Given the description of an element on the screen output the (x, y) to click on. 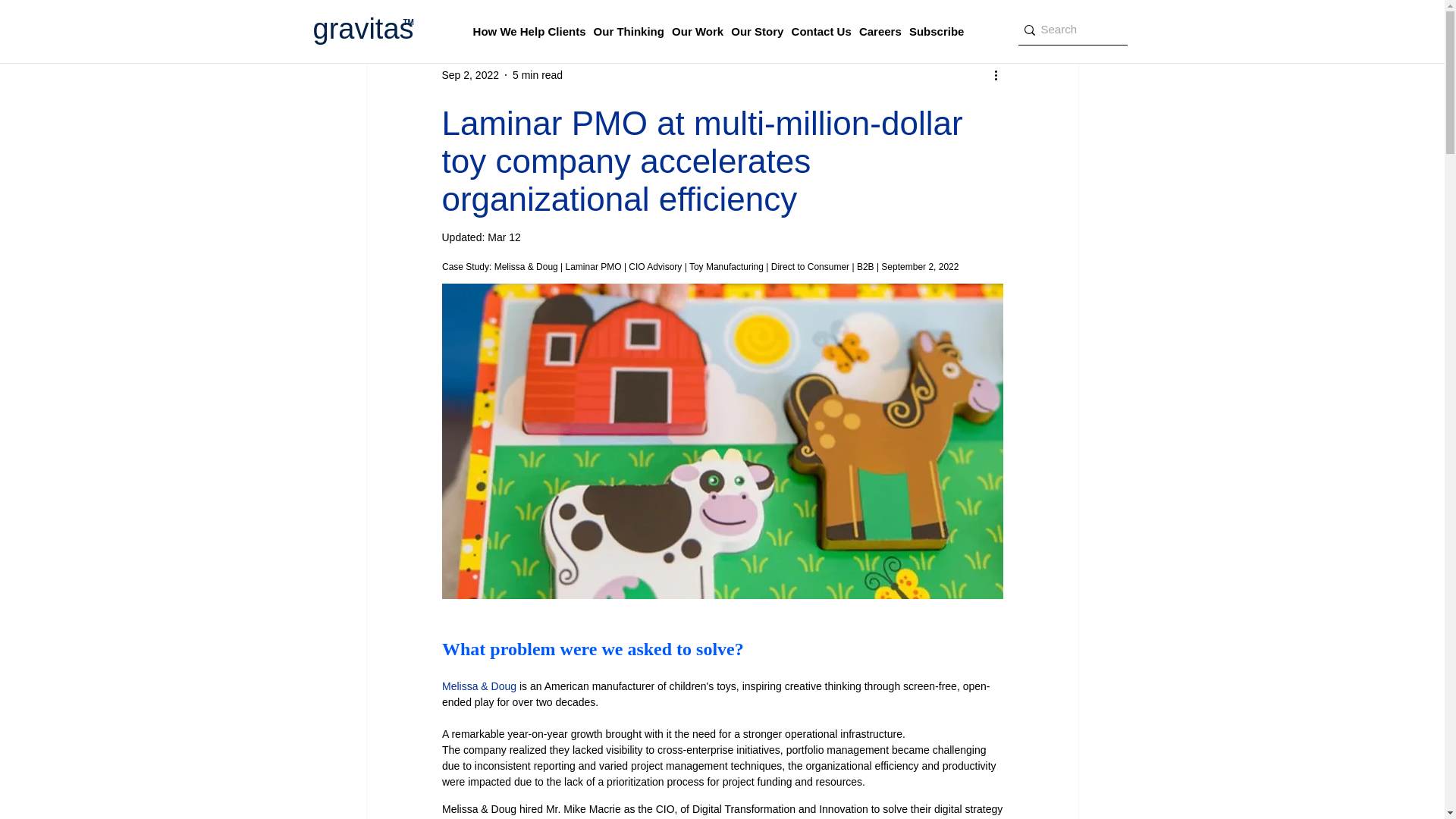
Our Story (757, 32)
Our Work (697, 32)
How We Help Clients (529, 32)
Our Thinking (628, 32)
Mar 12 (504, 236)
Careers (880, 32)
Sep 2, 2022 (470, 73)
Subscribe (936, 32)
Contact Us (821, 32)
TM (408, 22)
